Given the description of an element on the screen output the (x, y) to click on. 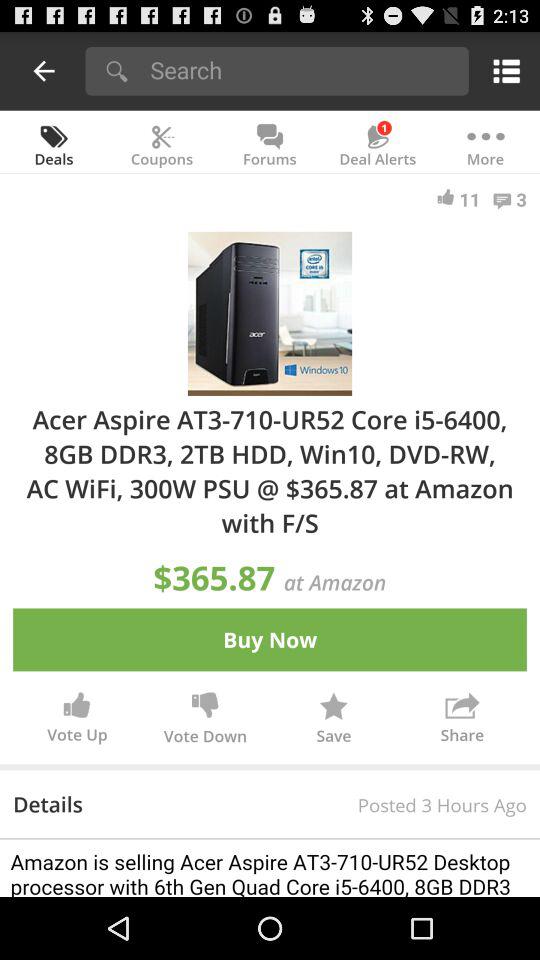
launch button next to save (462, 721)
